Given the description of an element on the screen output the (x, y) to click on. 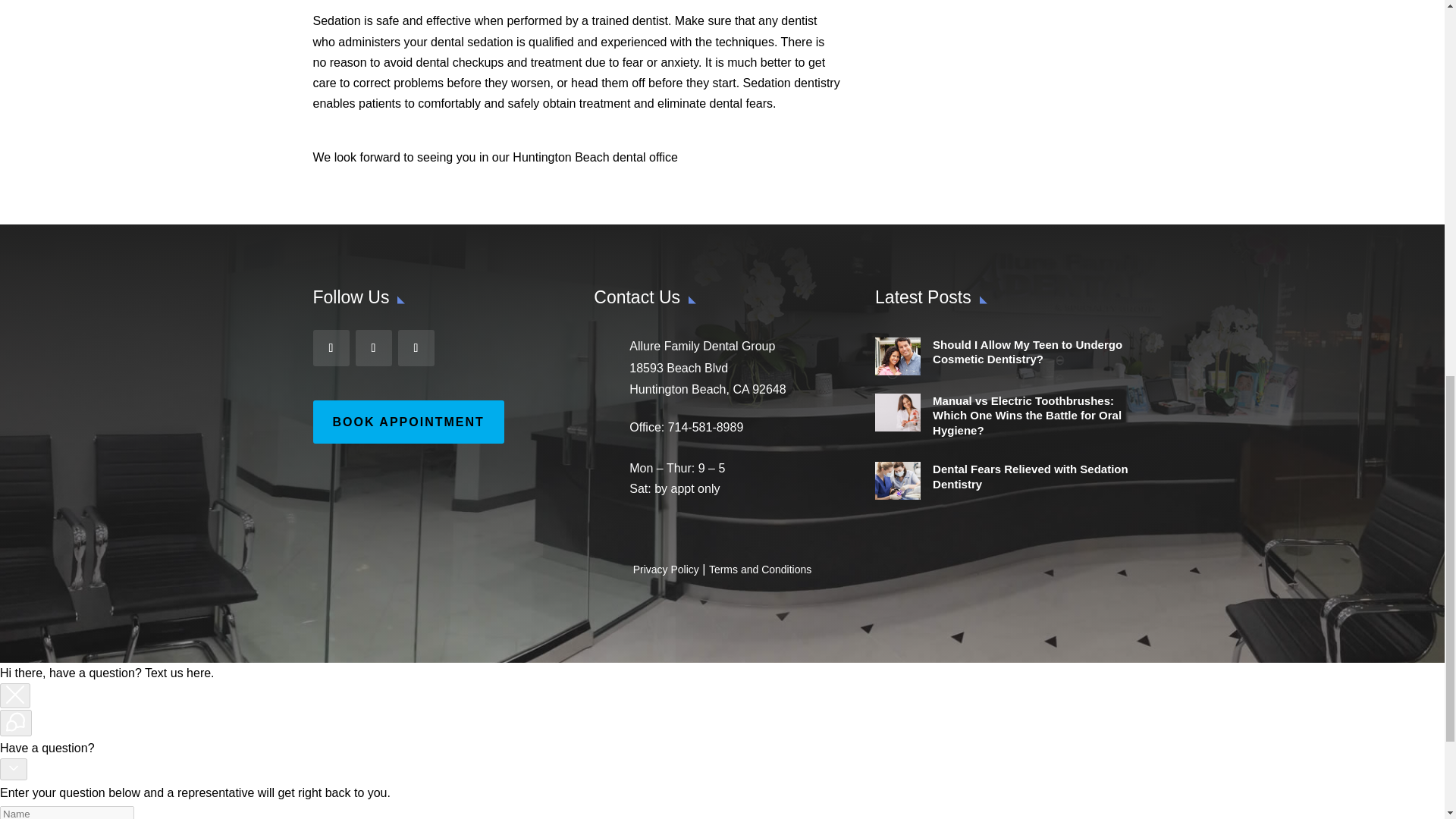
Follow on Facebook (331, 348)
Follow on Twitter (373, 348)
Follow on RSS (415, 348)
